Given the description of an element on the screen output the (x, y) to click on. 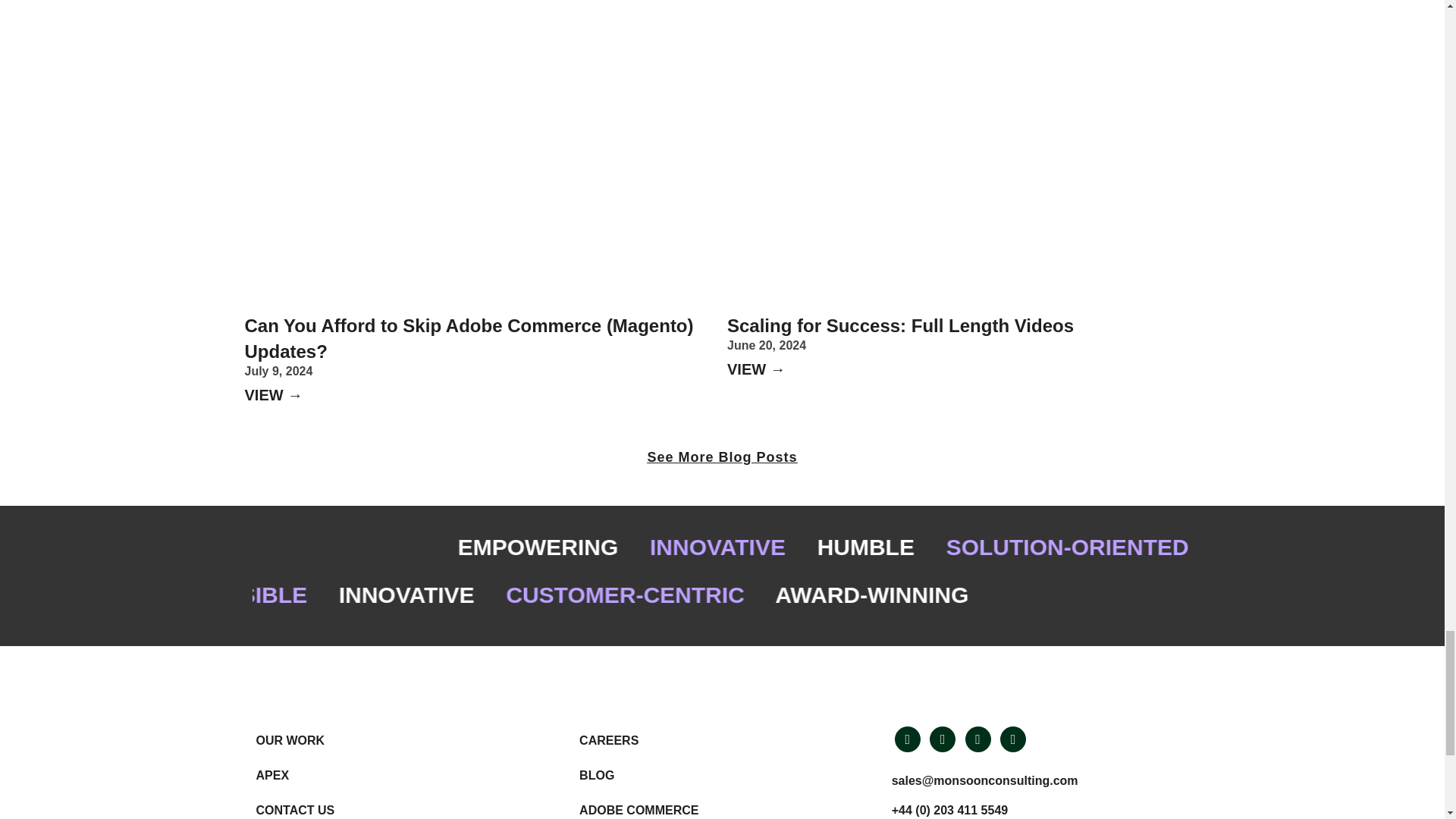
Facebook (1013, 738)
X (942, 738)
Instagram (978, 738)
